Given the description of an element on the screen output the (x, y) to click on. 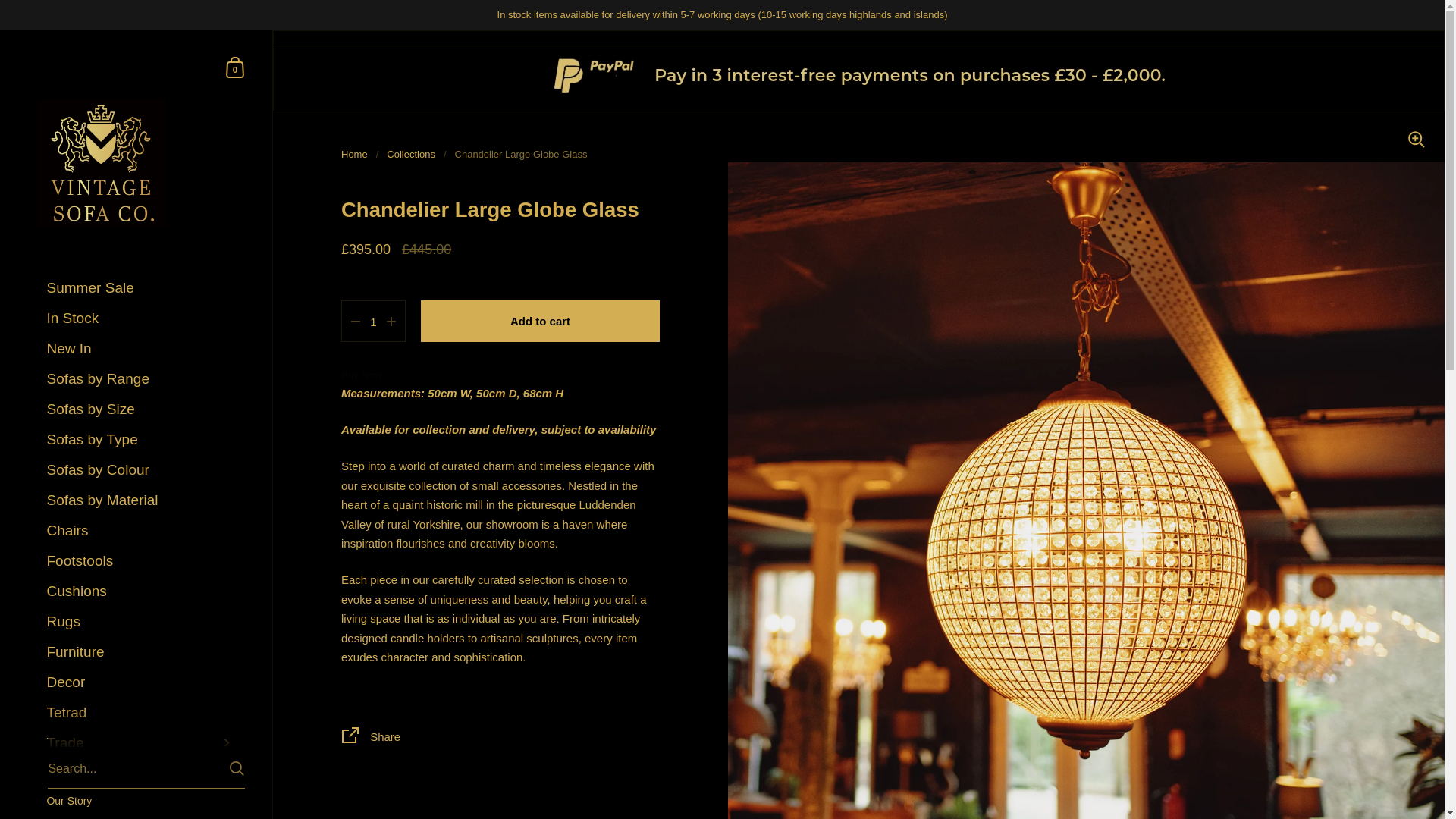
Cushions (141, 591)
1 (373, 322)
Visit our Showroom (141, 816)
Sofas by Colour (141, 470)
Footstools (141, 561)
Buy now and Pay in 3 (235, 66)
Skip to content (858, 93)
New In (141, 530)
Rugs (141, 348)
Sofas by Size (141, 621)
Decor (141, 409)
Trade (141, 682)
Summer Sale (141, 743)
